Given the description of an element on the screen output the (x, y) to click on. 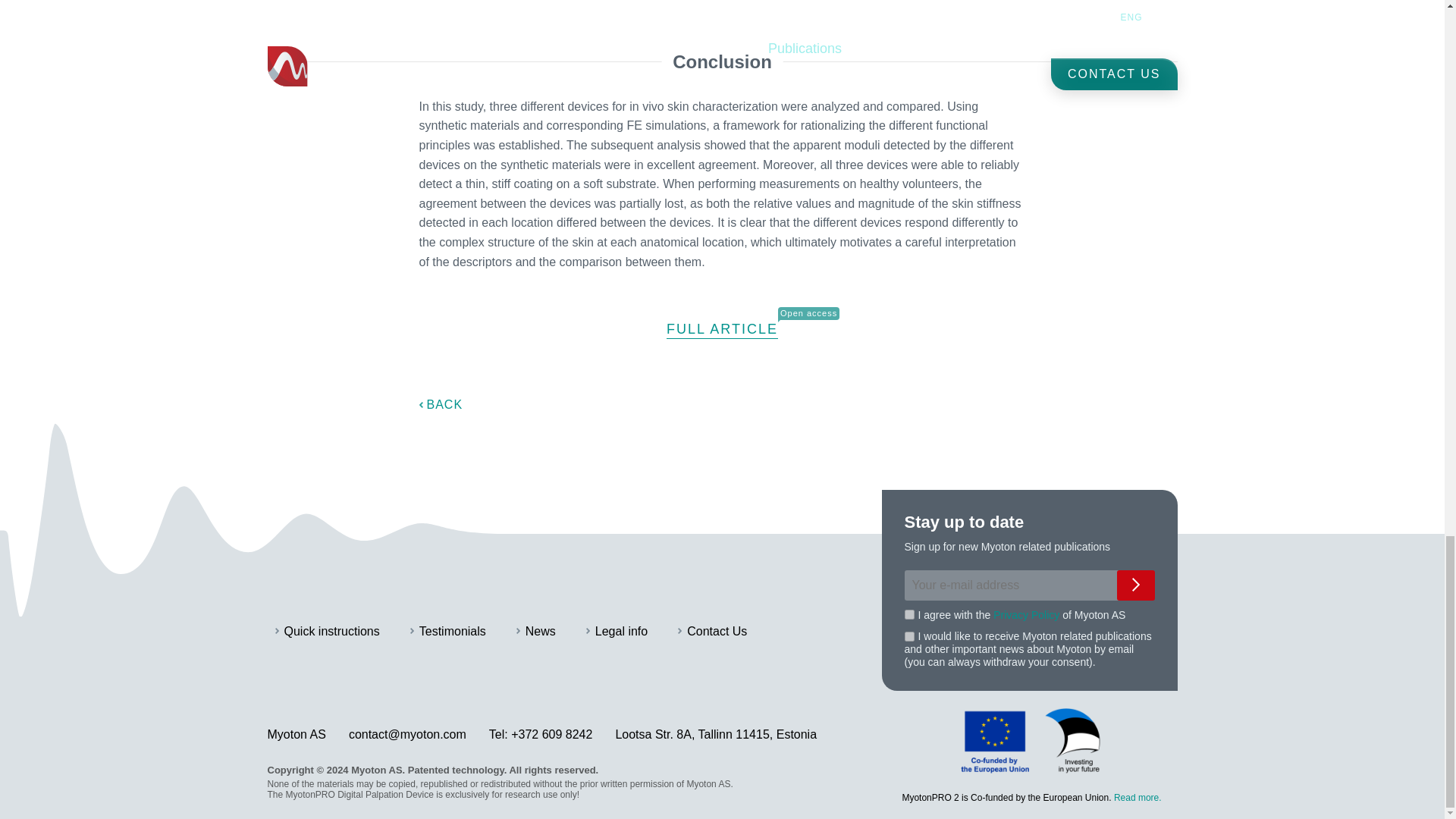
FULL ARTICLE (721, 329)
Legal info (616, 631)
Contact Us (712, 631)
BACK (441, 404)
Sign up (1135, 584)
Quick instructions (326, 631)
on (909, 636)
Privacy Policy (1025, 614)
News (536, 631)
Read more. (1137, 797)
